Given the description of an element on the screen output the (x, y) to click on. 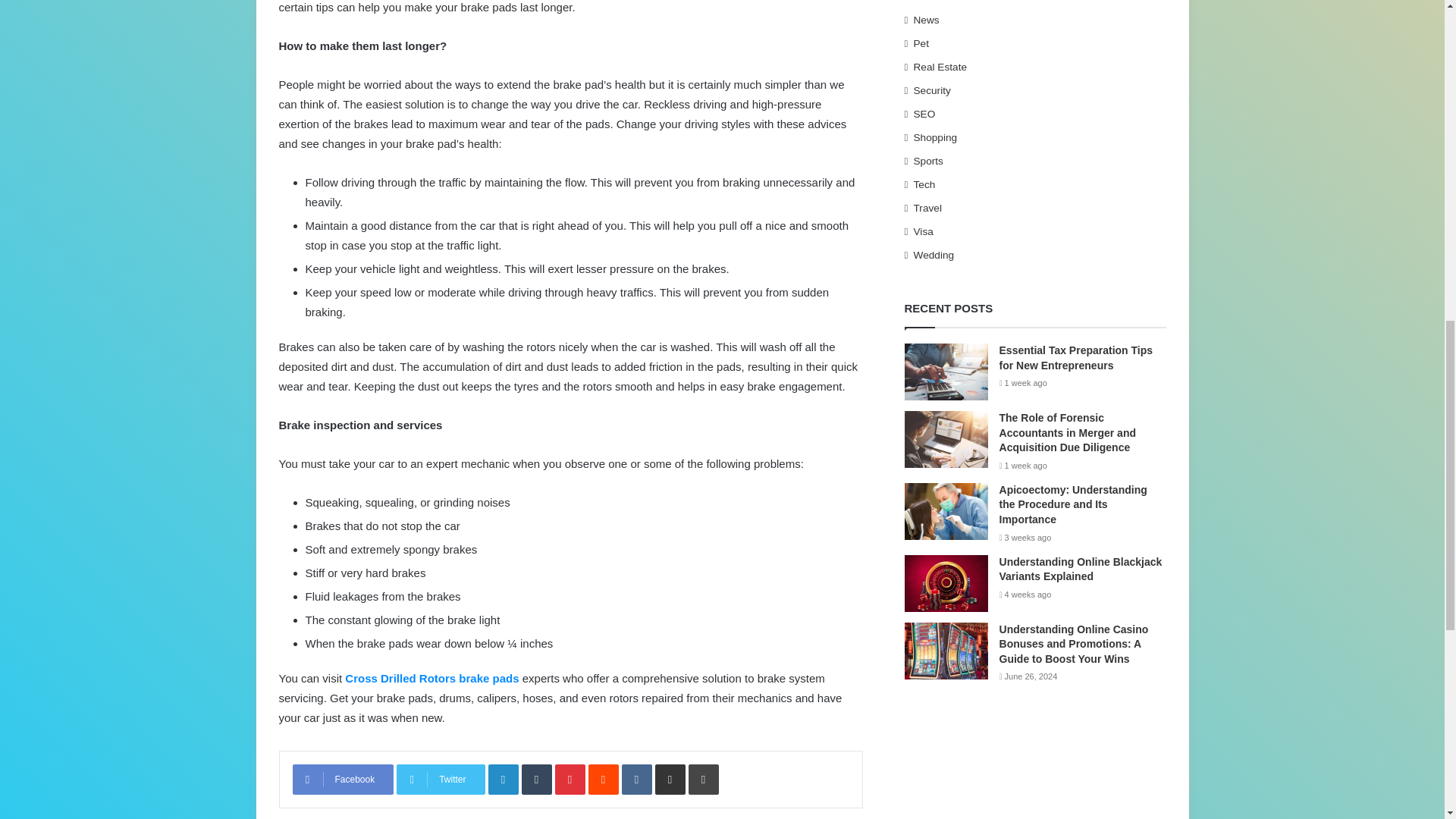
Reddit (603, 779)
VKontakte (636, 779)
Pinterest (569, 779)
Twitter (440, 779)
Facebook (343, 779)
Tumblr (536, 779)
Share via Email (670, 779)
LinkedIn (502, 779)
Cross Drilled Rotors brake pads (431, 677)
Print (703, 779)
